Given the description of an element on the screen output the (x, y) to click on. 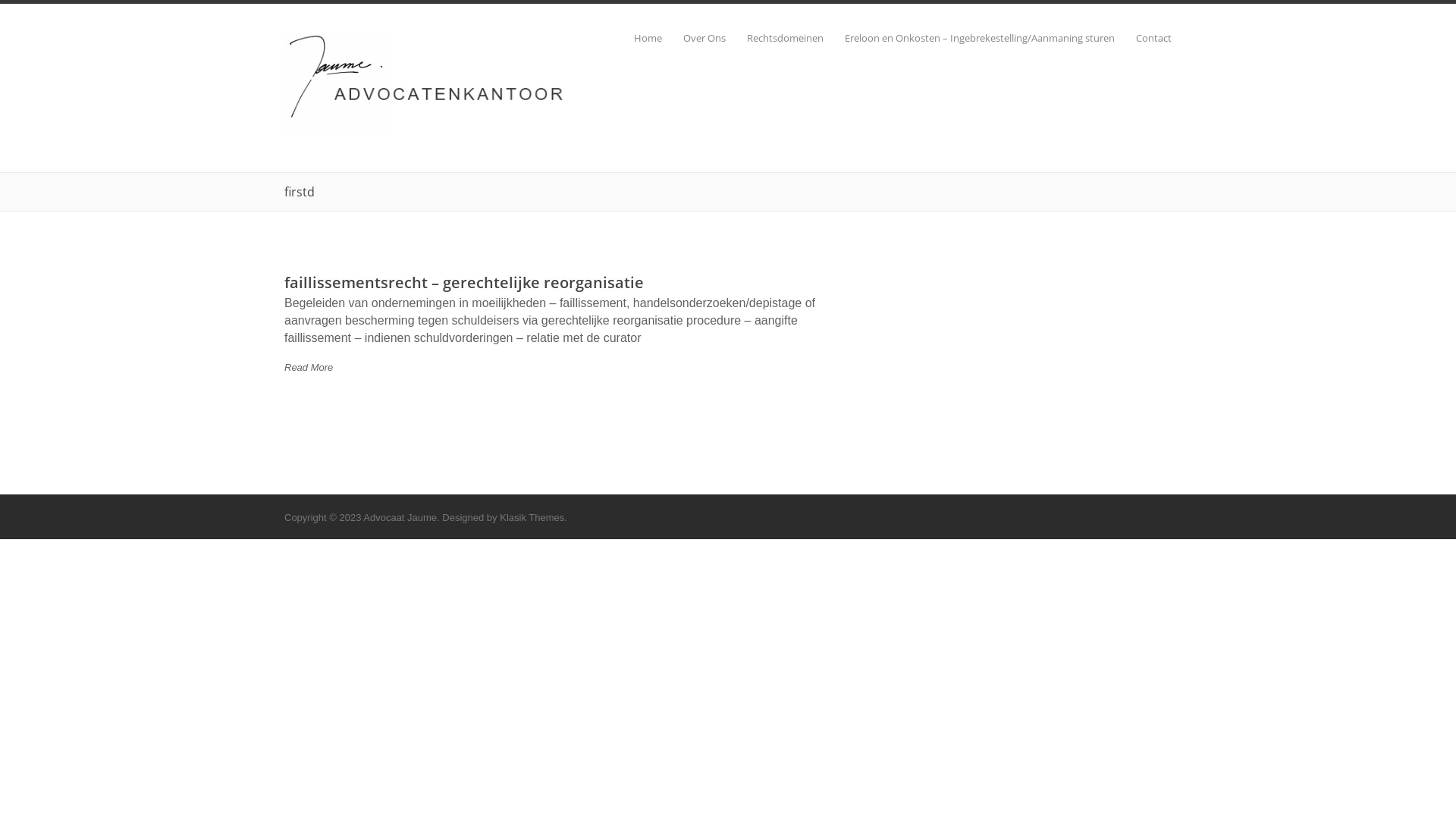
Contact Element type: text (1142, 38)
Klasik Themes Element type: text (531, 517)
Advocaat Jaume Element type: text (399, 517)
Home Element type: text (637, 38)
Advocaat Jaume Element type: hover (424, 133)
Read More Element type: text (308, 367)
Rechtsdomeinen Element type: text (774, 38)
Over Ons Element type: text (693, 38)
